Given the description of an element on the screen output the (x, y) to click on. 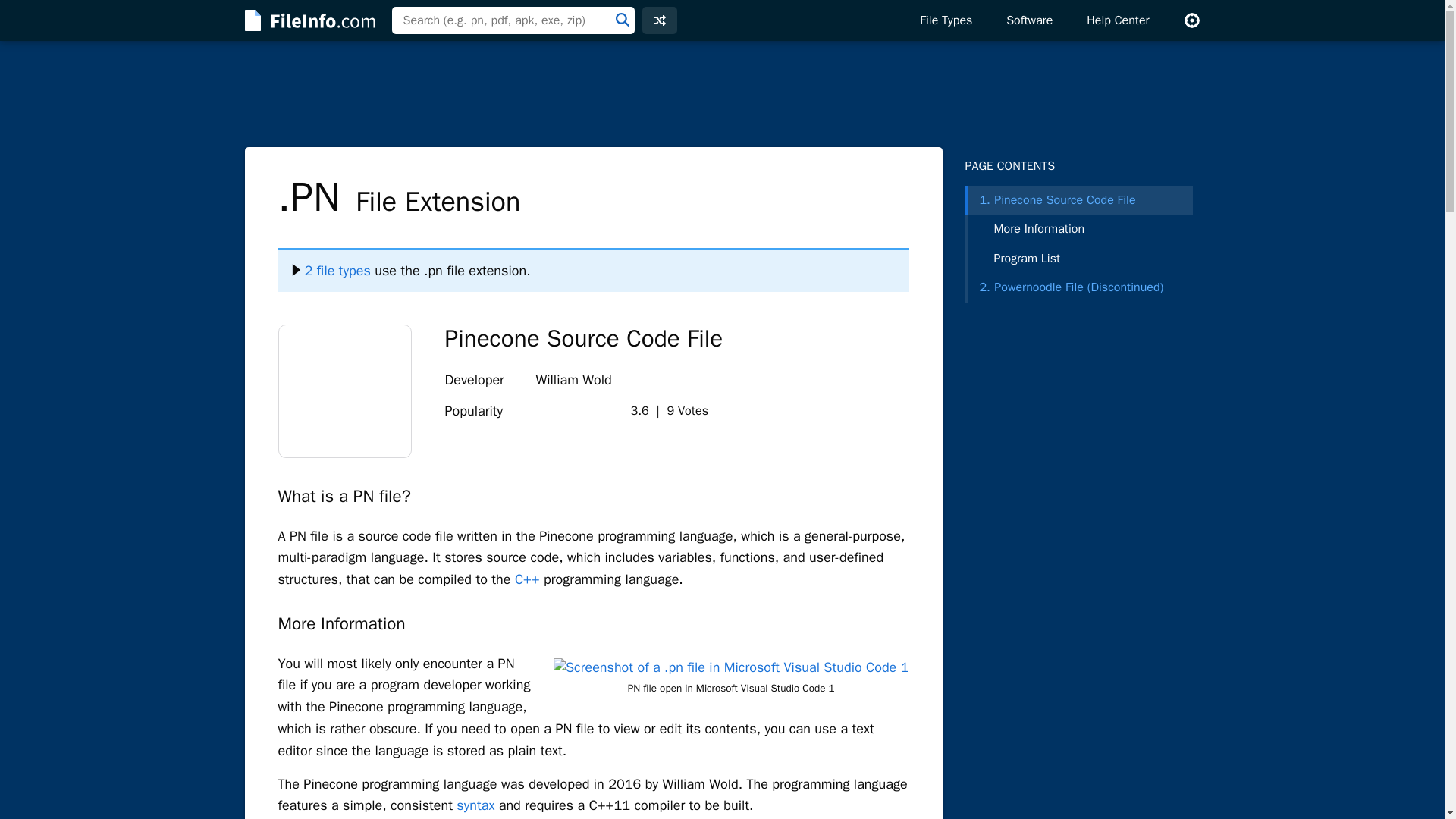
Settings (1190, 20)
Help Center (1117, 20)
Random (659, 20)
Software (1029, 20)
syntax (476, 805)
Document Icon (344, 390)
File Types (945, 20)
FileInfo (307, 20)
2 file types (330, 270)
